Given the description of an element on the screen output the (x, y) to click on. 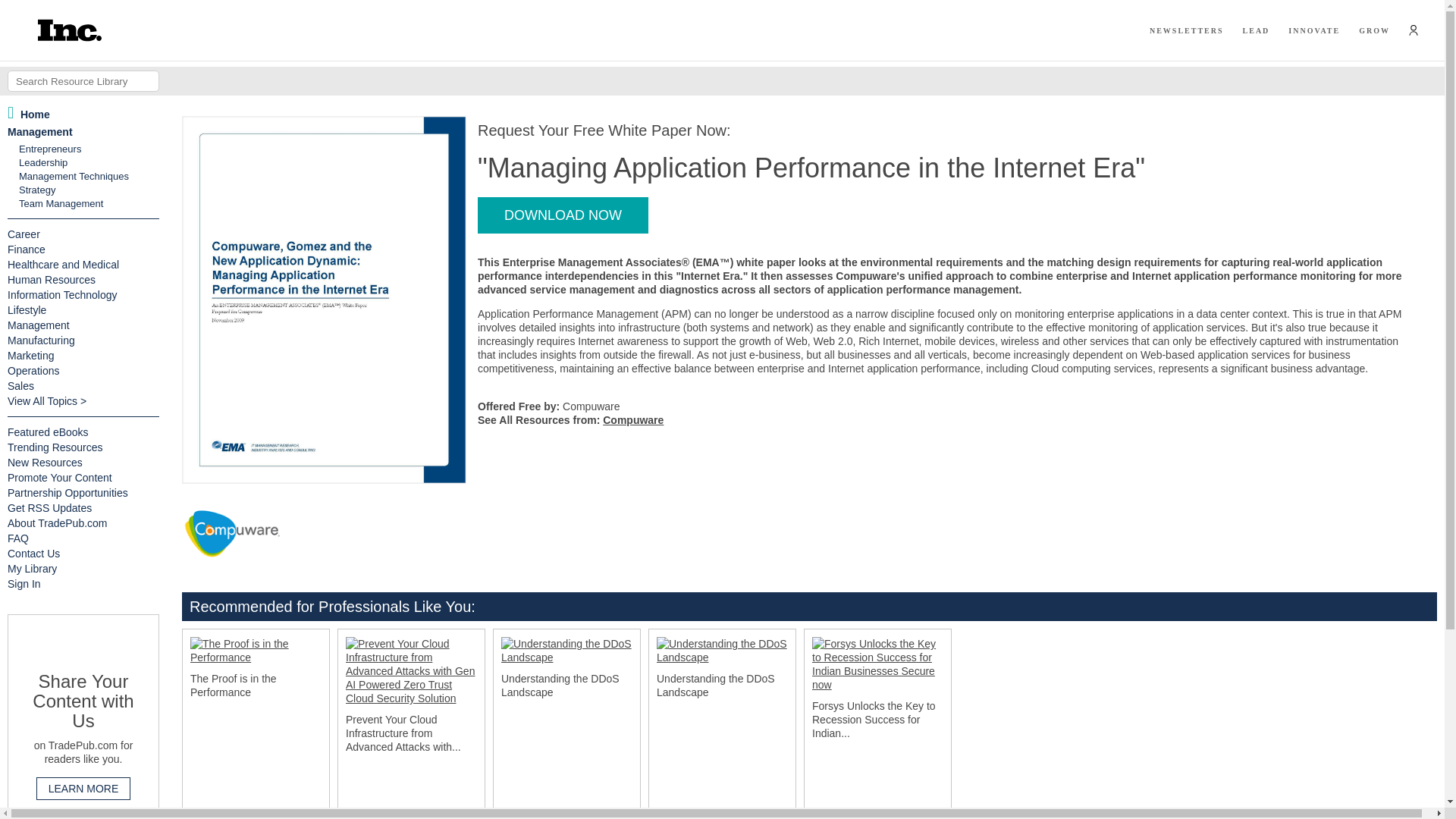
Continue to Lead on Inc.com (1256, 30)
Continue to Innovate on Inc.com (1313, 30)
Continue to Newsletters on Inc.com (1187, 30)
Continue to Grow on Inc.com (1374, 30)
